Given the description of an element on the screen output the (x, y) to click on. 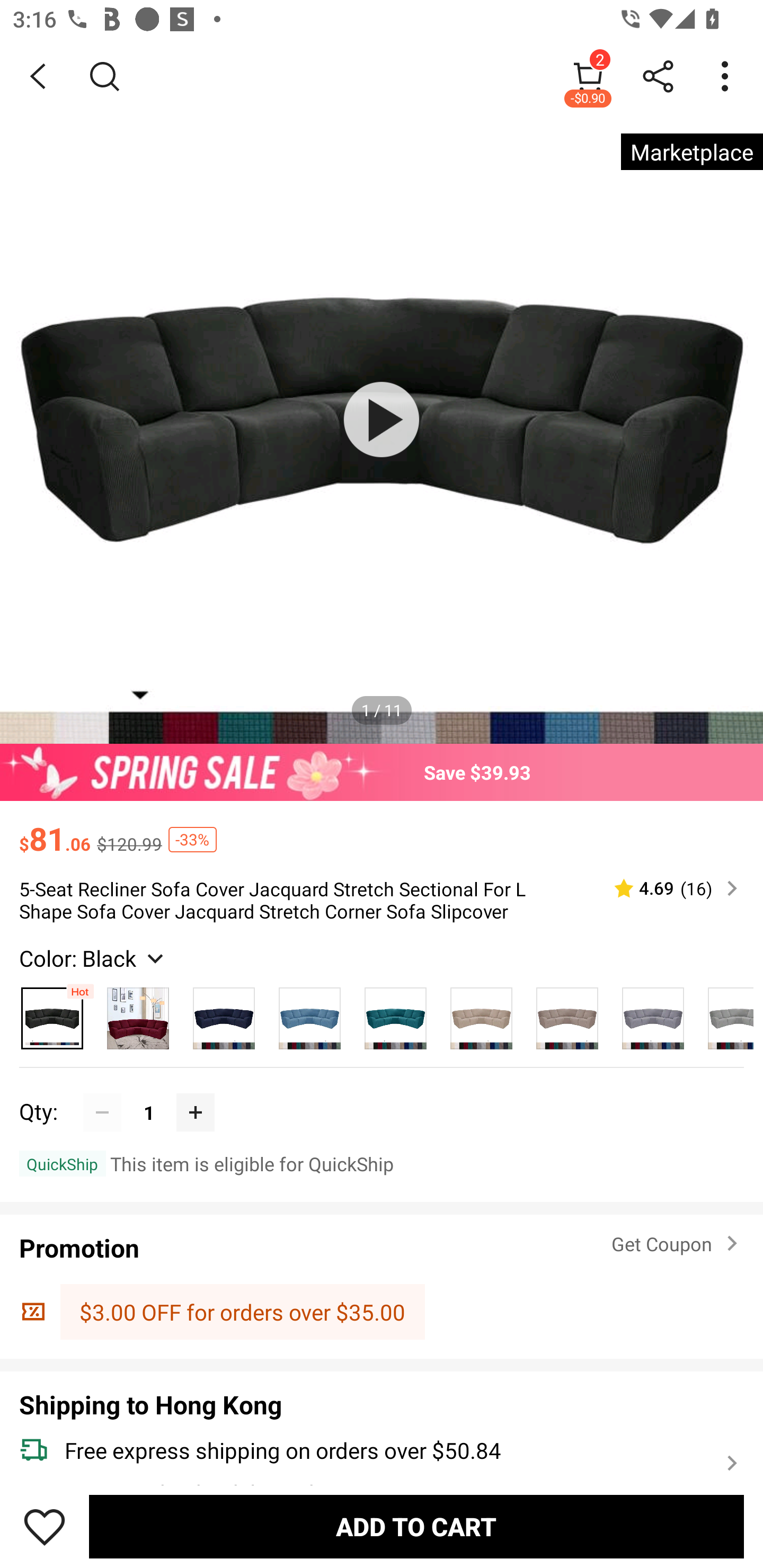
PHOTOS Marketplace 1 / 11 (381, 419)
BACK (38, 75)
2 -$0.90 (588, 75)
1 / 11 (381, 710)
Save $39.93 (381, 772)
$81.06 $120.99 -33% (381, 830)
4.69 (16) (667, 887)
Color: Black (93, 957)
Black (52, 1013)
Burgundy (138, 1013)
Navy Blue (224, 1013)
Baby Blue (309, 1013)
Teal Blue (395, 1013)
Khaki (481, 1013)
Camel (567, 1013)
silver gray (652, 1013)
Light Grey (724, 1013)
Qty: 1 (381, 1092)
  QuickShip   This item is eligible for QuickShip (381, 1163)
ADD TO CART (416, 1526)
Save (44, 1526)
